Given the description of an element on the screen output the (x, y) to click on. 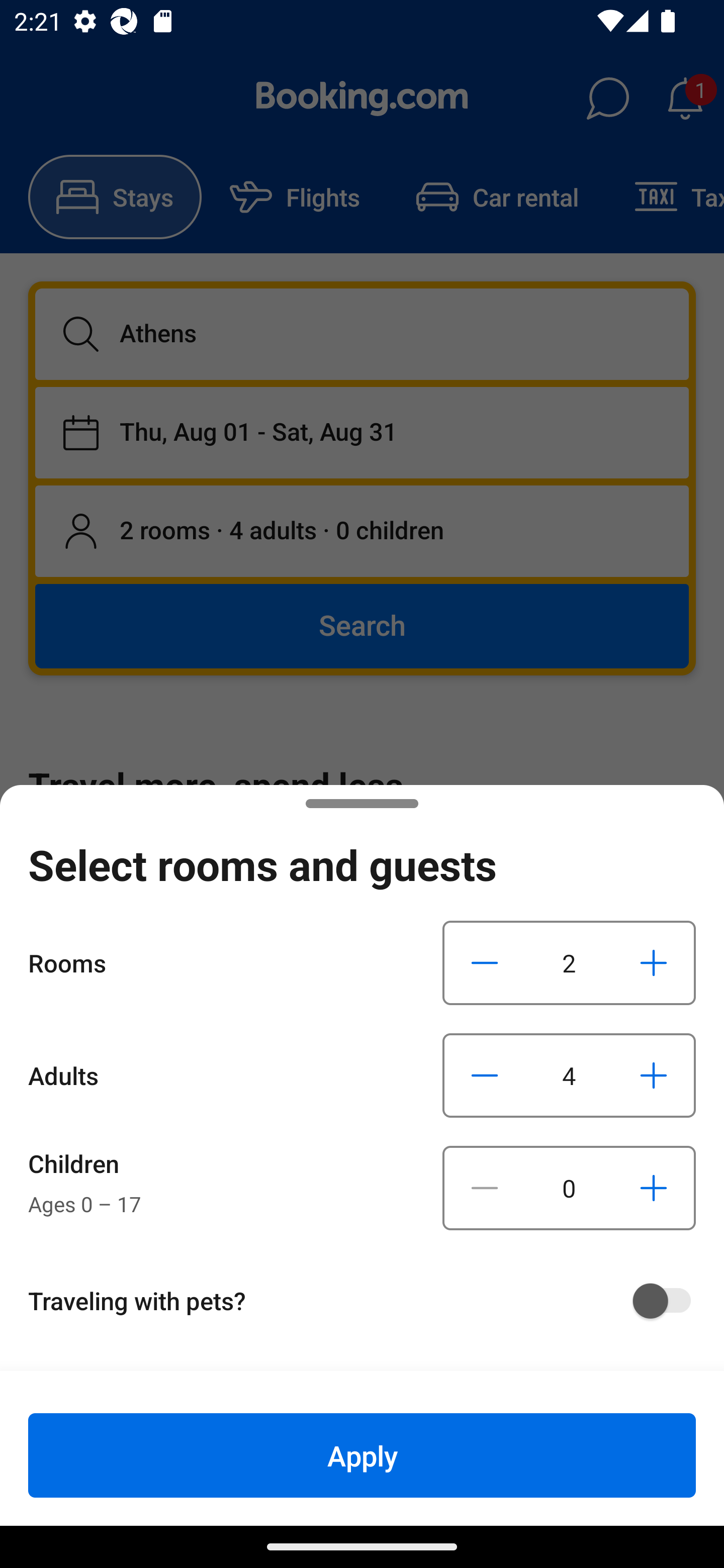
Decrease (484, 962)
Increase (653, 962)
Decrease (484, 1075)
Increase (653, 1075)
Decrease (484, 1188)
Increase (653, 1188)
Traveling with pets? (369, 1300)
Apply (361, 1454)
